Given the description of an element on the screen output the (x, y) to click on. 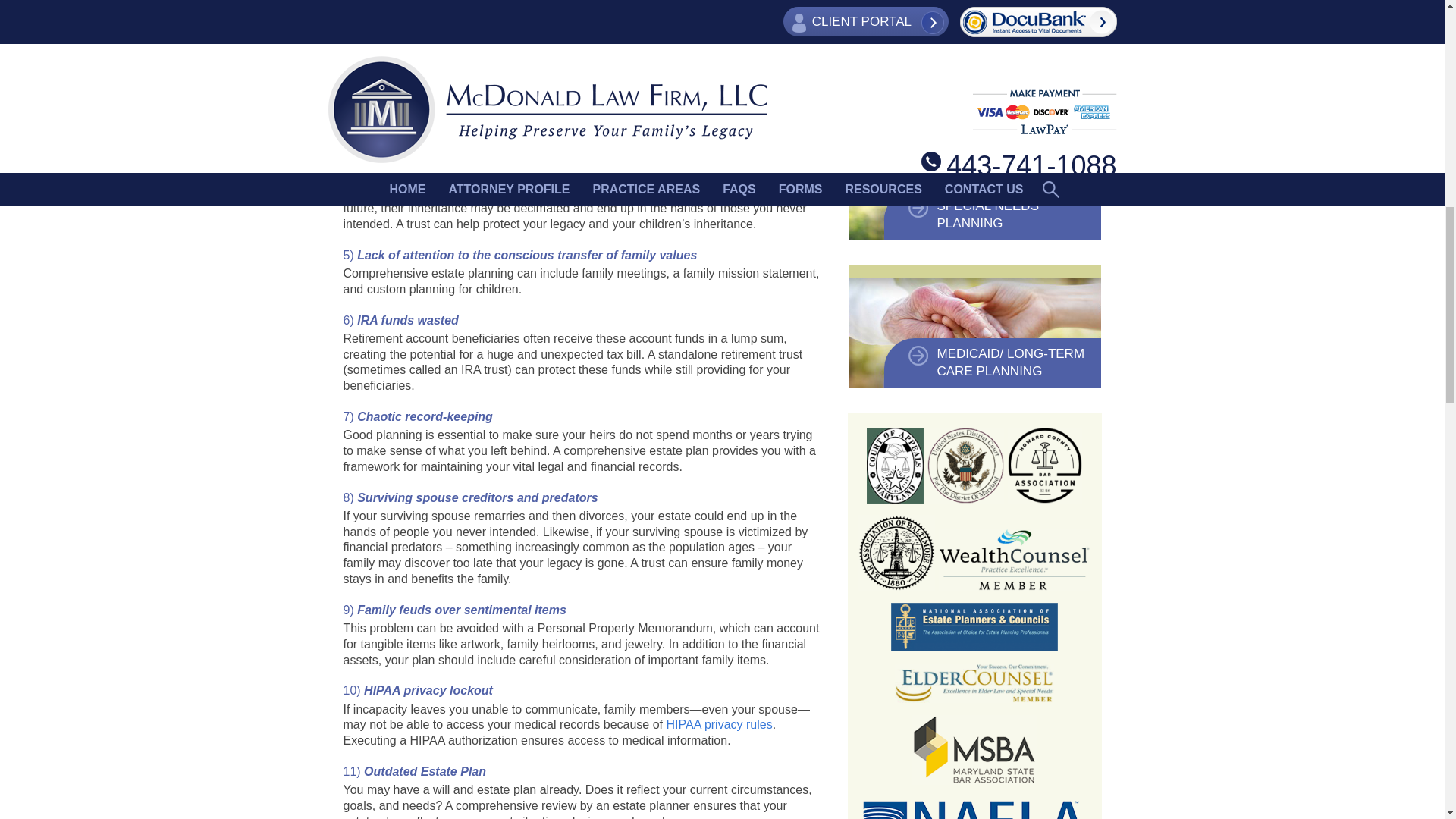
United States District Court (965, 465)
Bar Association of Baltimore City (896, 552)
MSBA Maryland State Bar Association (974, 749)
NAELA Member (974, 807)
Eldercounsel Member (974, 682)
Howard County Bar Association (1044, 465)
Wealthcouncel Member (1014, 559)
National Association of Estate Planners Councils (974, 626)
